Given the description of an element on the screen output the (x, y) to click on. 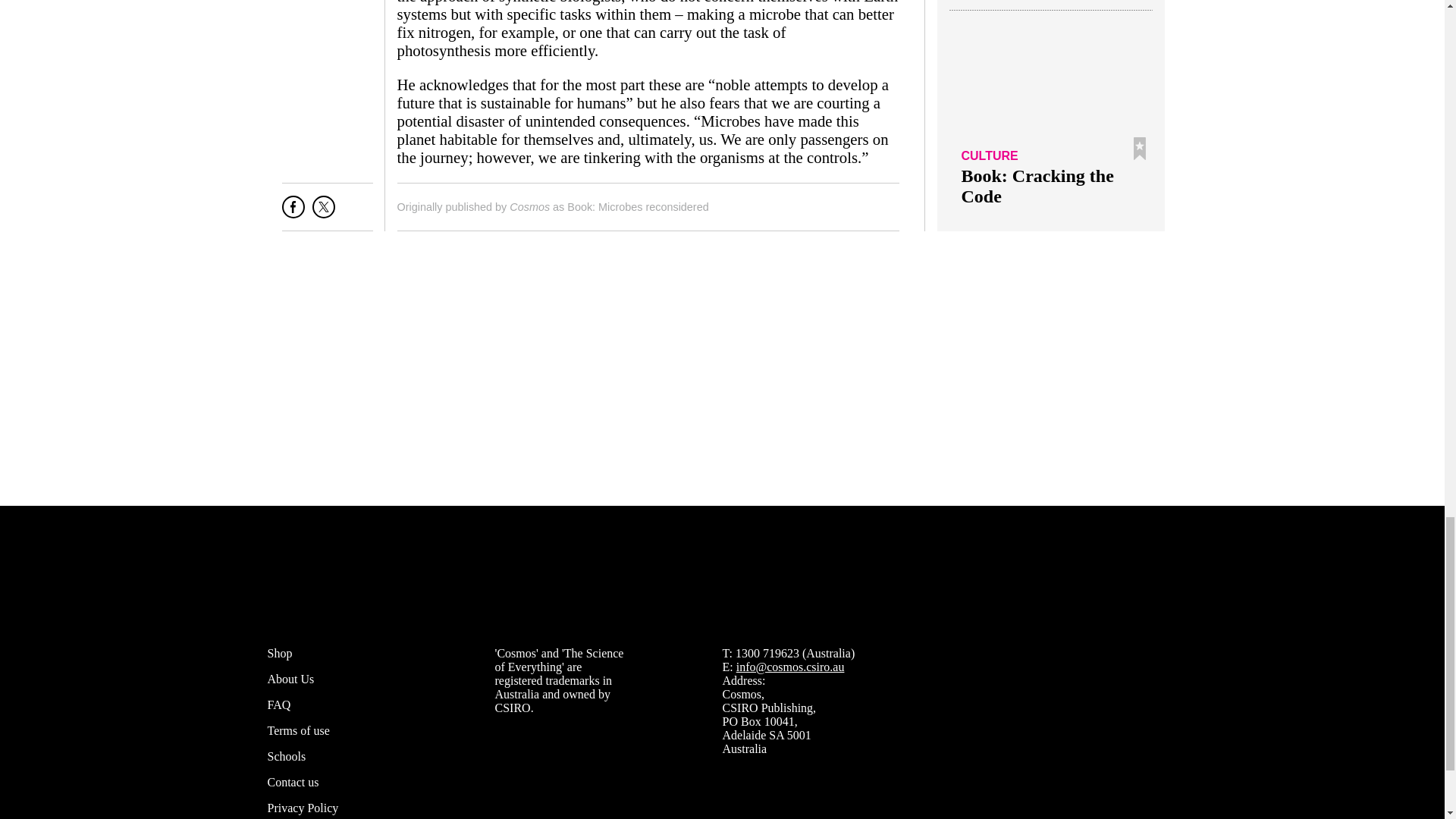
Tweet (323, 212)
Book: Microbes reconsidered (637, 206)
Share on Facebook (293, 212)
